Given the description of an element on the screen output the (x, y) to click on. 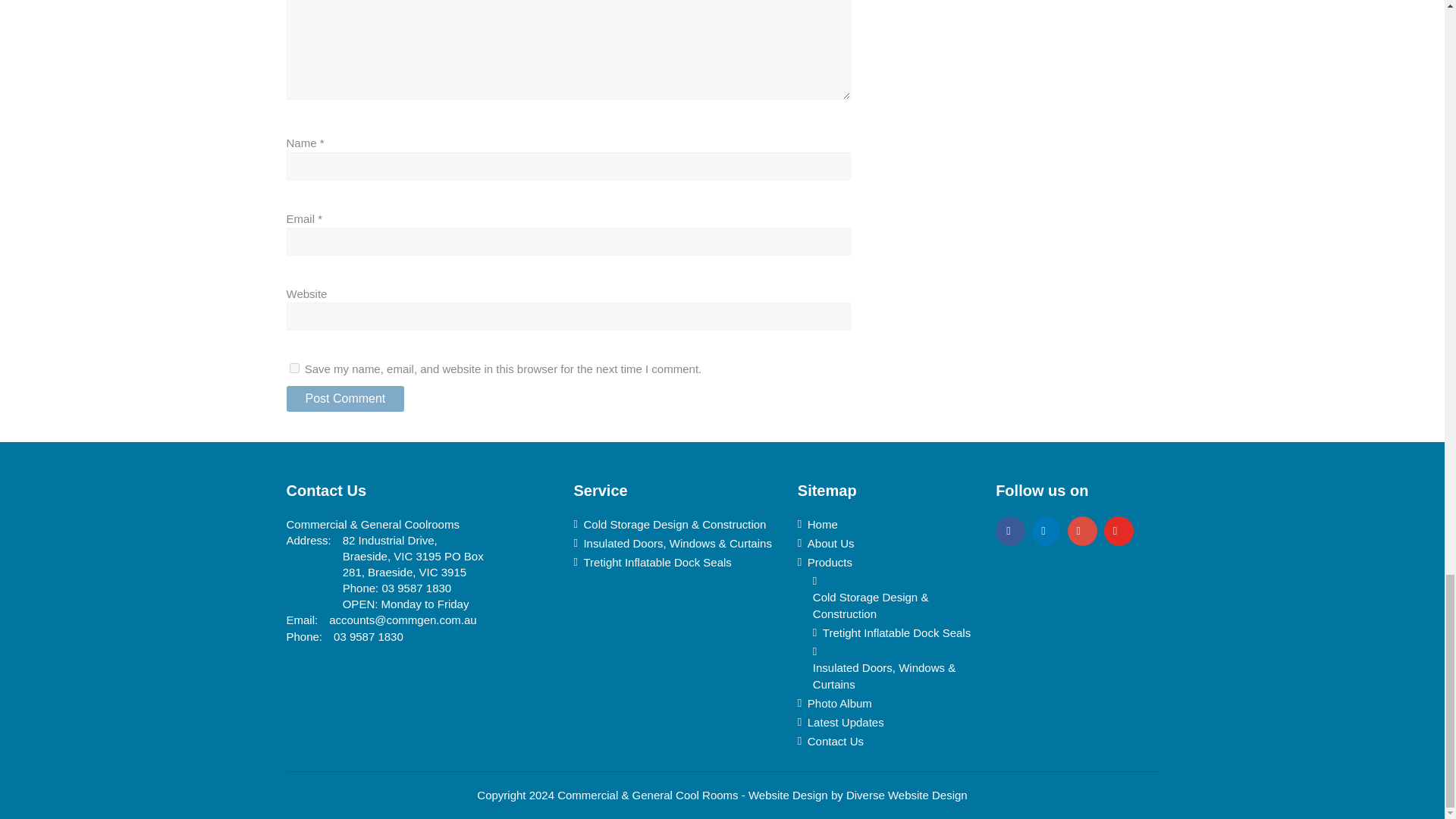
yes (294, 368)
Diverse Website Design (906, 794)
Post Comment (345, 398)
Post Comment (345, 398)
